Given the description of an element on the screen output the (x, y) to click on. 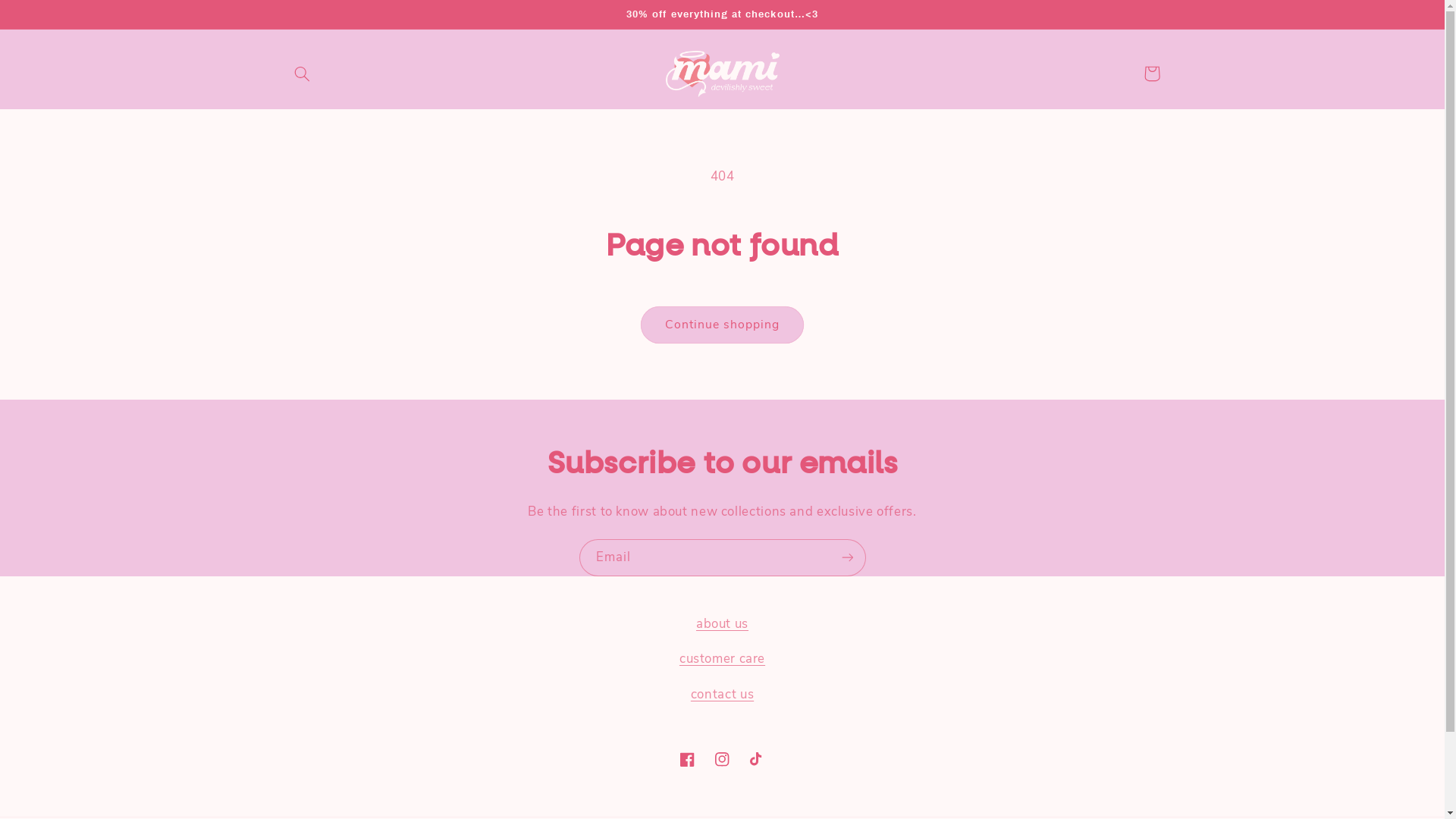
customer care Element type: text (722, 658)
Facebook Element type: text (686, 758)
TikTok Element type: text (757, 758)
Instagram Element type: text (721, 758)
contact us Element type: text (721, 693)
Continue shopping Element type: text (721, 324)
Cart Element type: text (1151, 73)
about us Element type: text (722, 623)
